Given the description of an element on the screen output the (x, y) to click on. 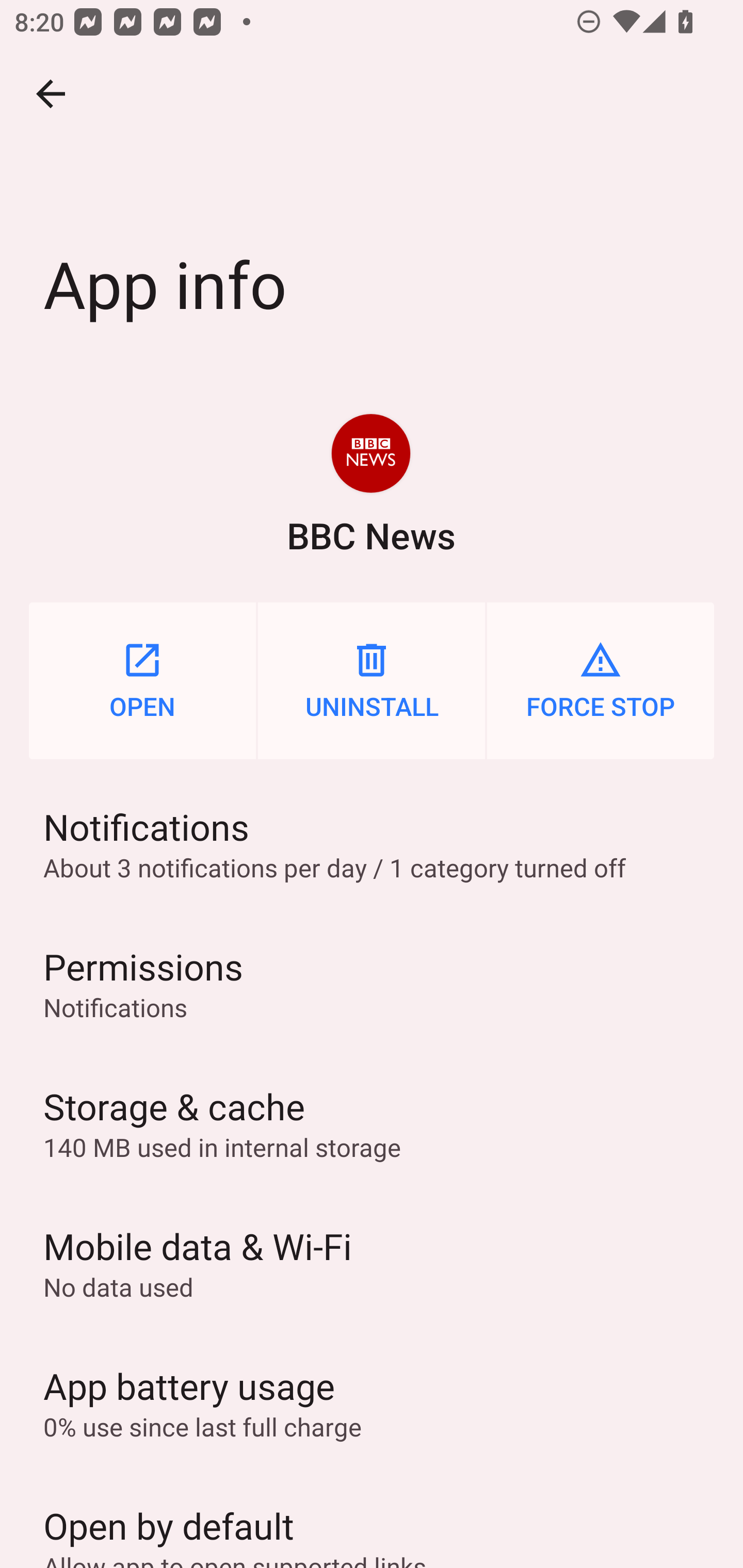
Navigate up (50, 93)
OPEN (141, 680)
UNINSTALL (371, 680)
FORCE STOP (600, 680)
Permissions Notifications (371, 983)
Storage & cache 140 MB used in internal storage (371, 1123)
Mobile data & Wi‑Fi No data used (371, 1262)
App battery usage 0% use since last full charge (371, 1402)
Open by default Allow app to open supported links (371, 1520)
